Given the description of an element on the screen output the (x, y) to click on. 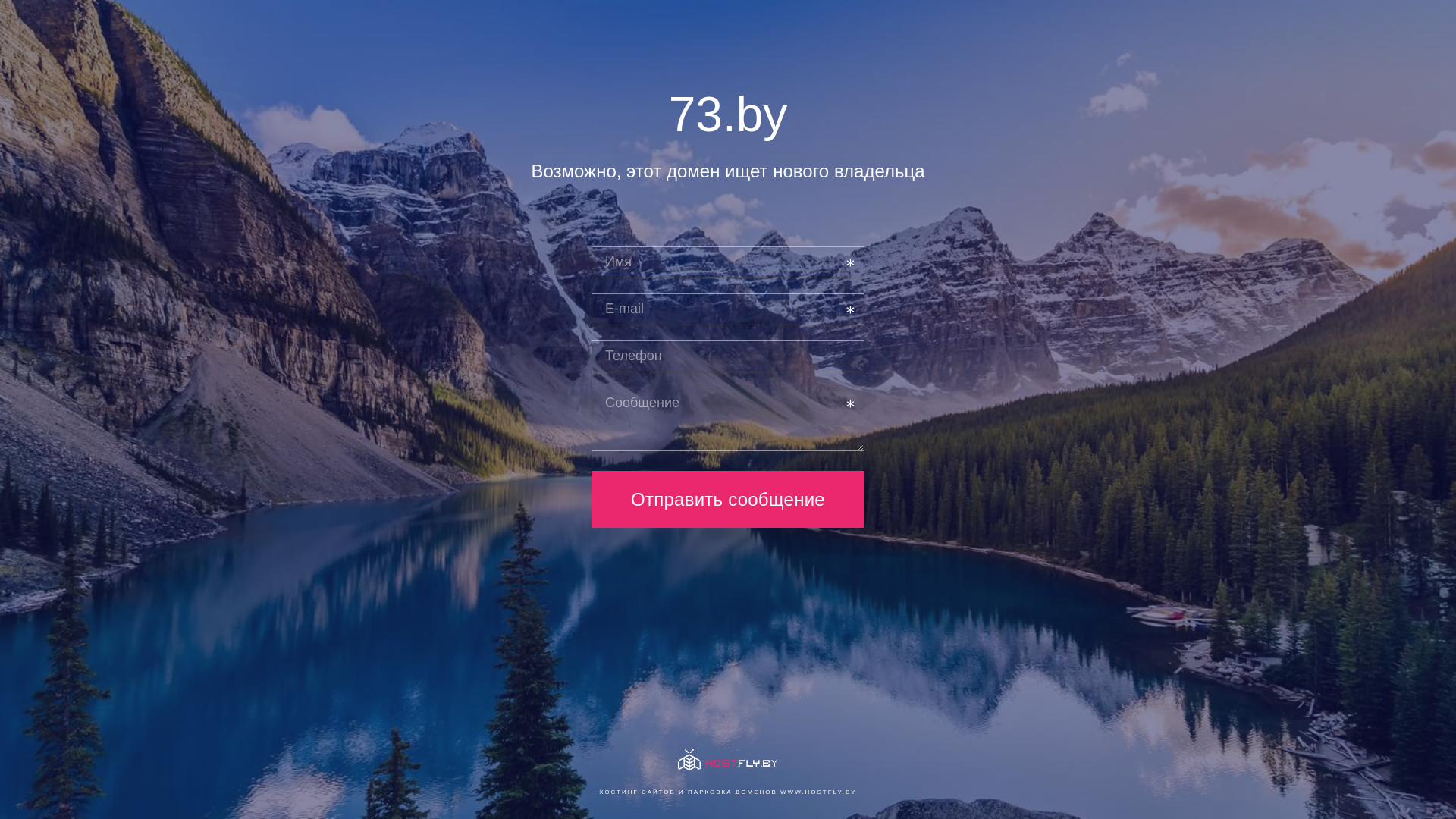
WWW.HOSTFLY.BY Element type: text (818, 791)
